Given the description of an element on the screen output the (x, y) to click on. 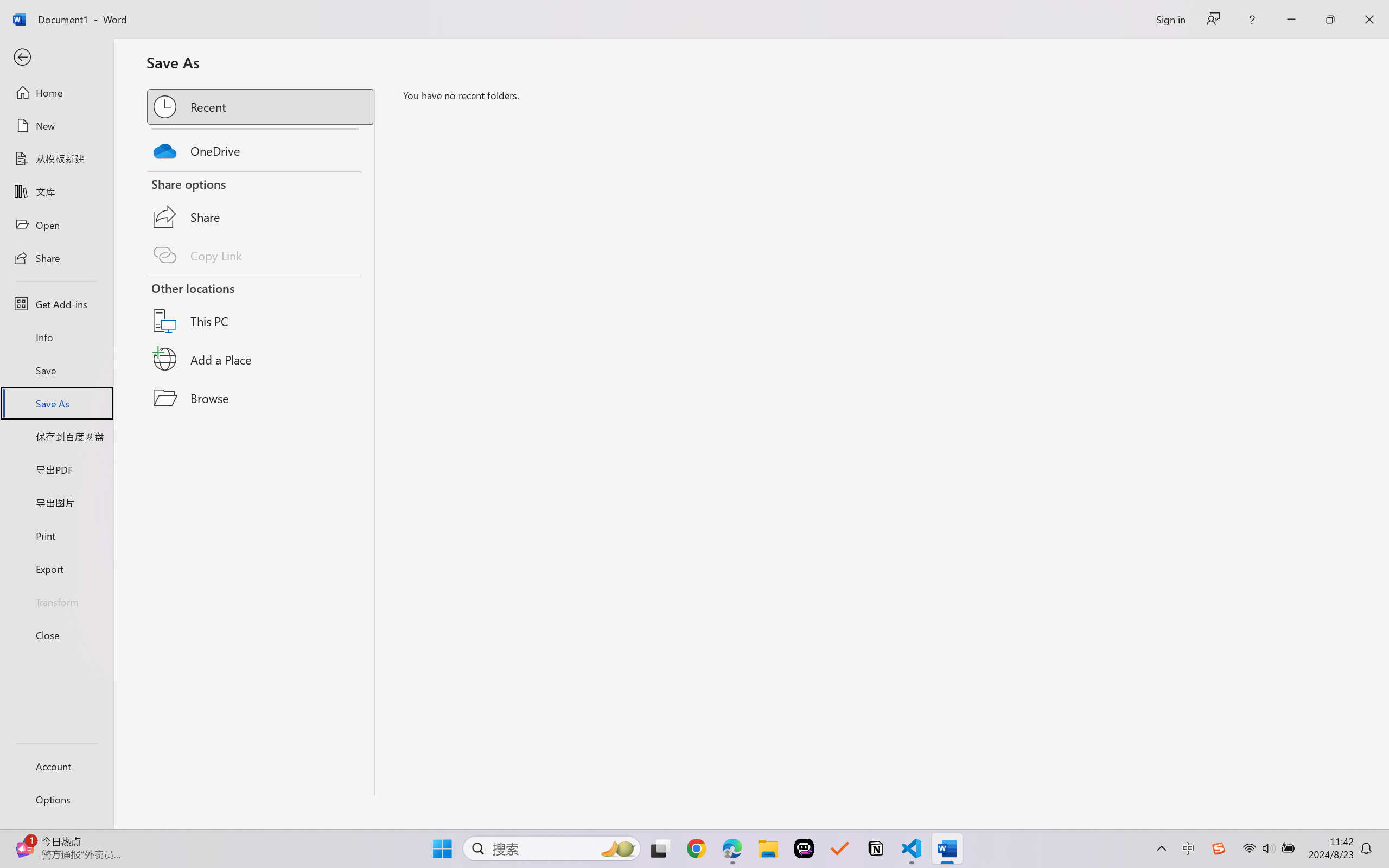
Account (56, 765)
Print (56, 535)
This PC (261, 307)
Get Add-ins (56, 303)
Options (56, 798)
Copy Link (261, 254)
Back (56, 57)
